Given the description of an element on the screen output the (x, y) to click on. 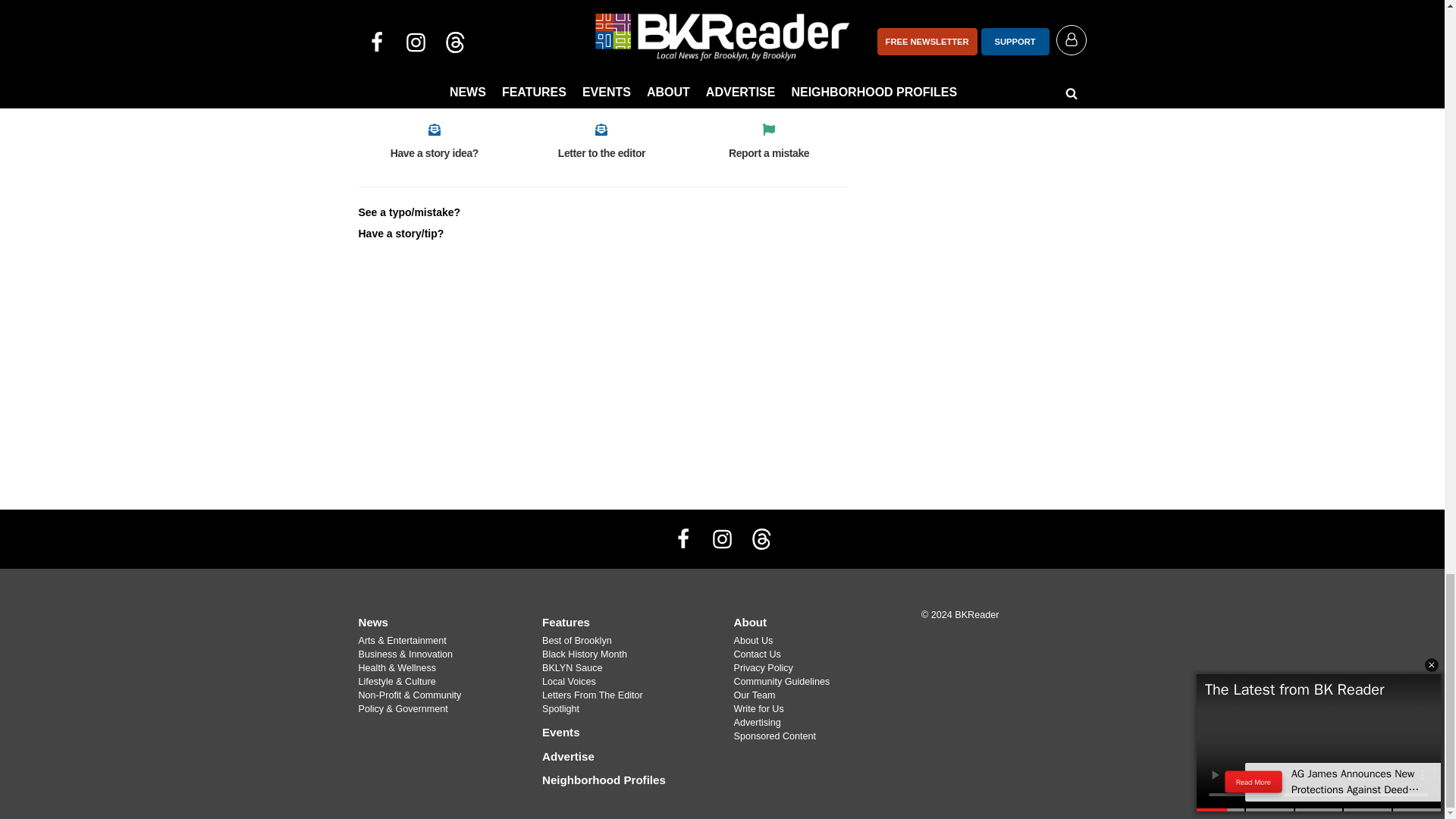
Instagram (721, 538)
Facebook (683, 538)
3rd party ad content (972, 124)
Threads (760, 538)
